Given the description of an element on the screen output the (x, y) to click on. 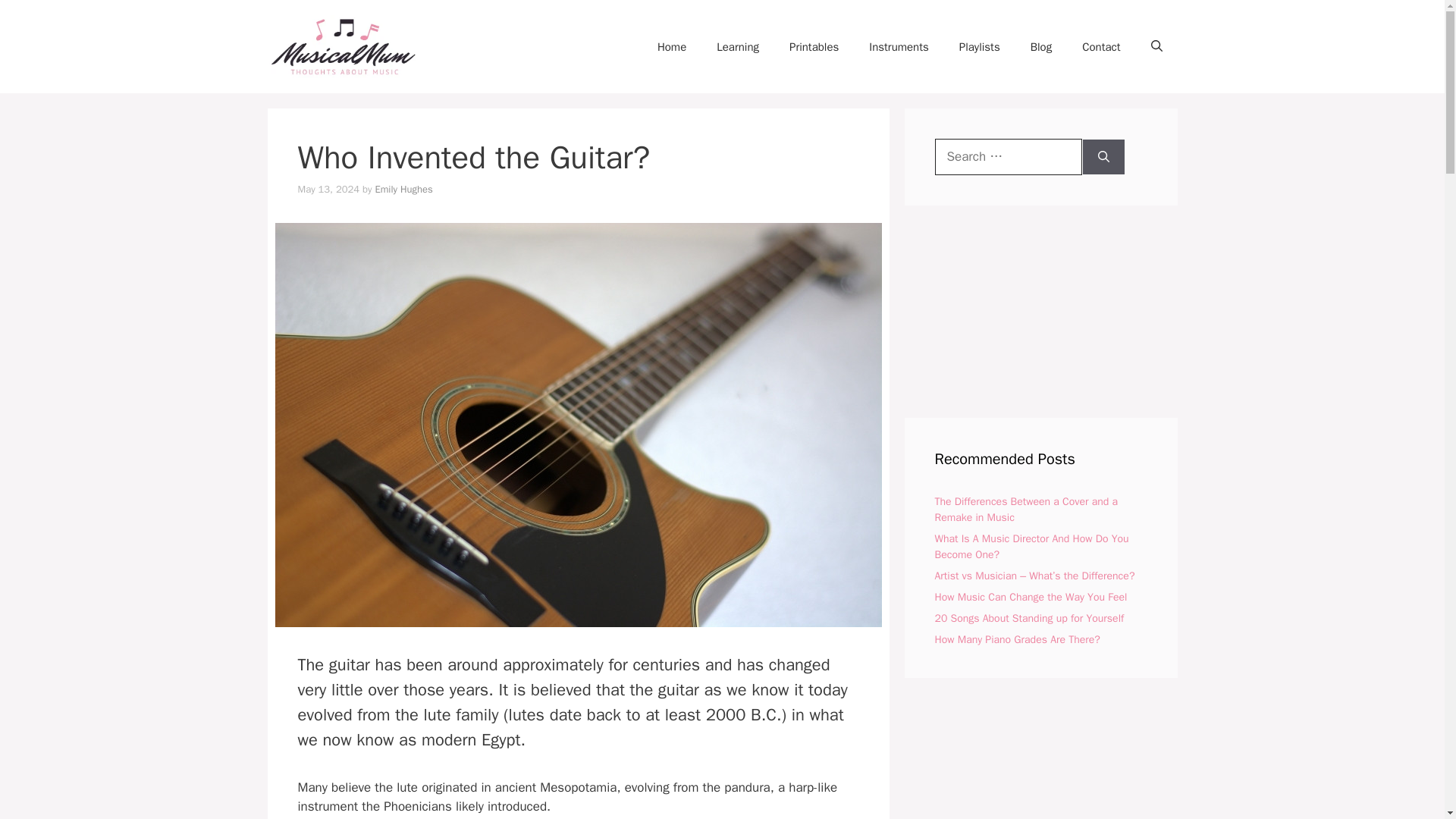
Printables (813, 46)
Blog (1040, 46)
Contact (1101, 46)
Playlists (978, 46)
Search for: (1007, 156)
Learning (737, 46)
Instruments (898, 46)
Emily Hughes (403, 188)
Home (671, 46)
View all posts by Emily Hughes (403, 188)
